Given the description of an element on the screen output the (x, y) to click on. 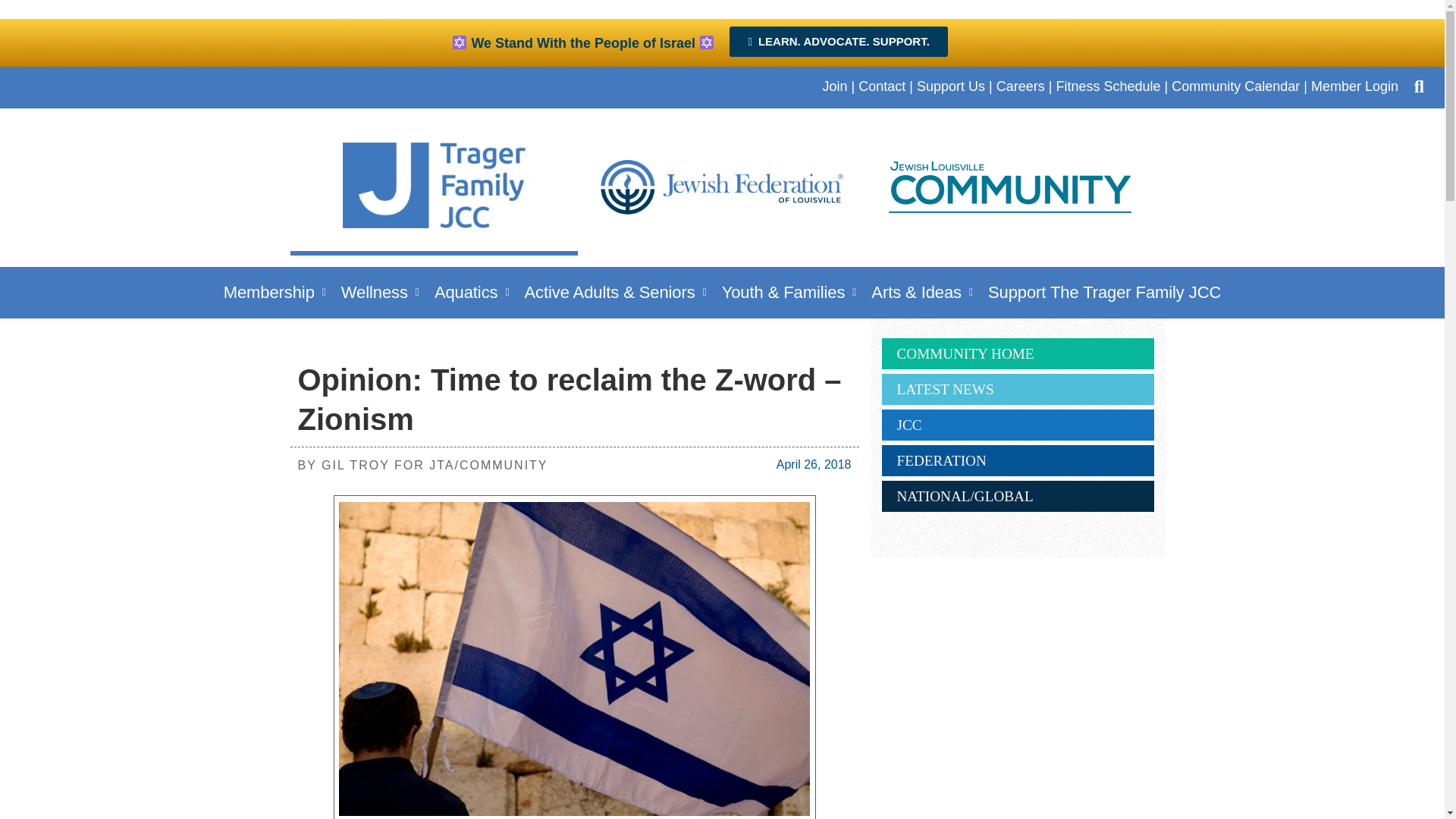
Wellness (379, 292)
Support Us (951, 86)
Fitness Schedule (1107, 86)
Careers (1020, 86)
Community Calendar (1236, 86)
12:11 pm (813, 464)
Contact (882, 86)
LEARN. ADVOCATE. SUPPORT. (838, 41)
Membership (274, 292)
Aquatics (471, 292)
Join (834, 86)
Member Login (1354, 86)
